Given the description of an element on the screen output the (x, y) to click on. 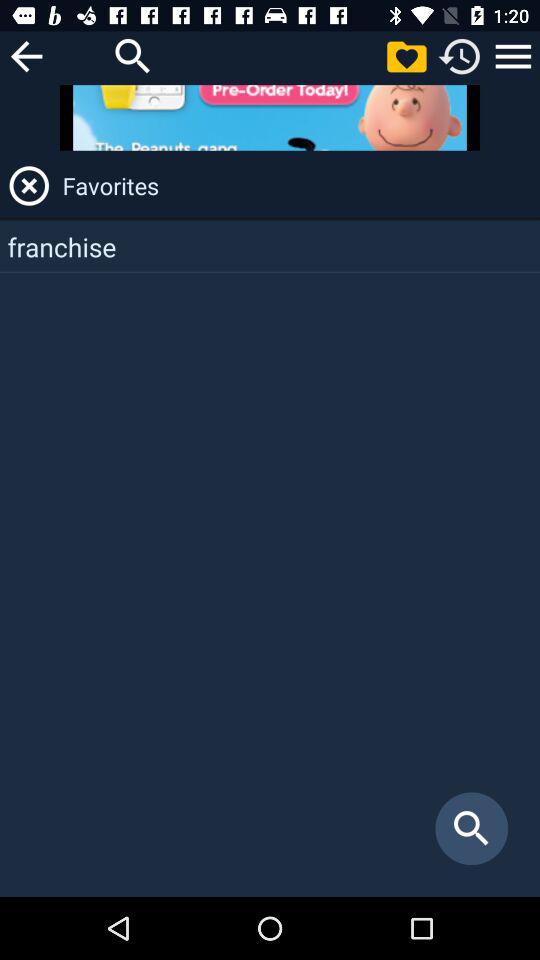
show history (460, 56)
